Given the description of an element on the screen output the (x, y) to click on. 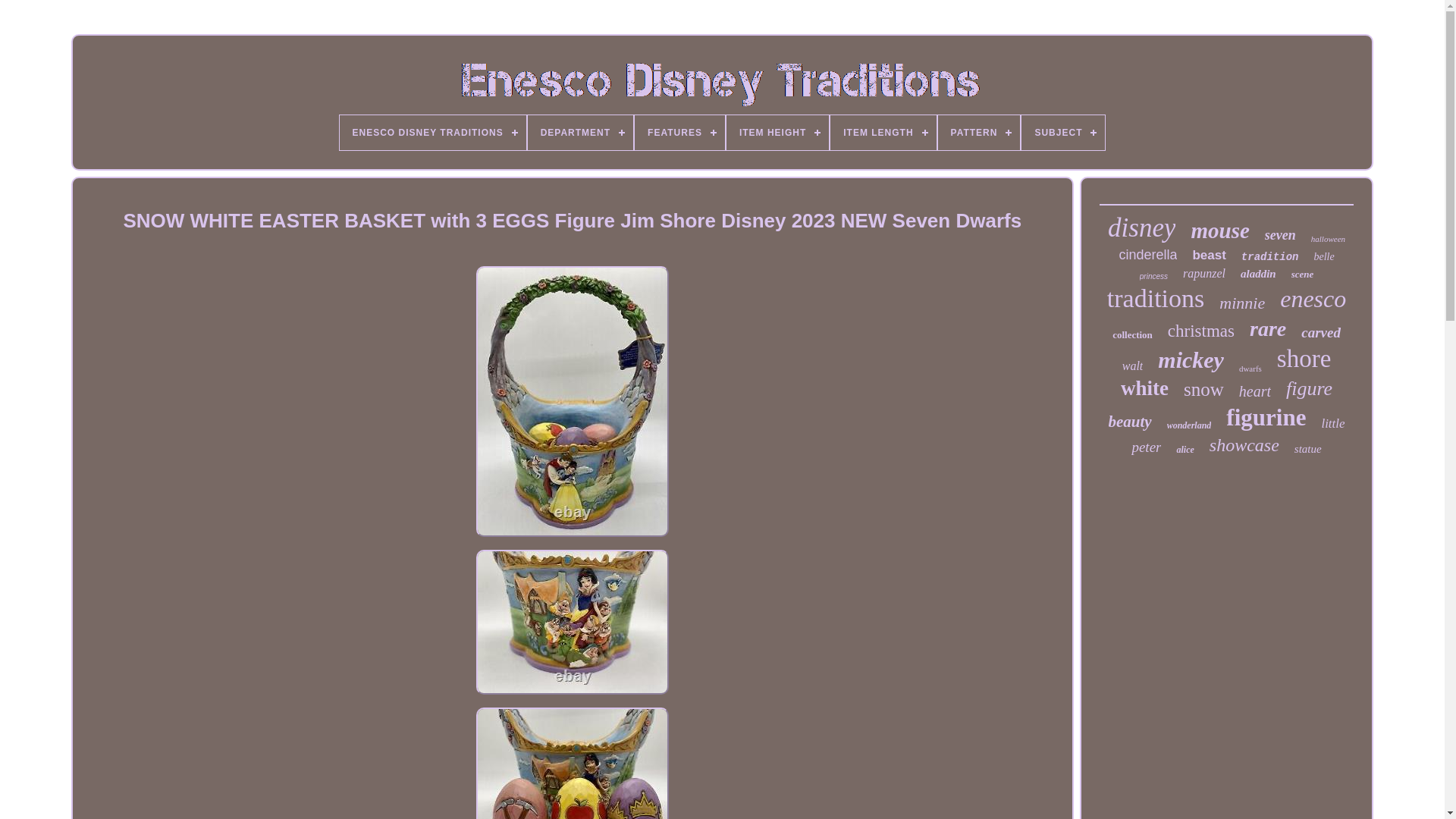
ENESCO DISNEY TRADITIONS (432, 132)
DEPARTMENT (580, 132)
FEATURES (679, 132)
